Given the description of an element on the screen output the (x, y) to click on. 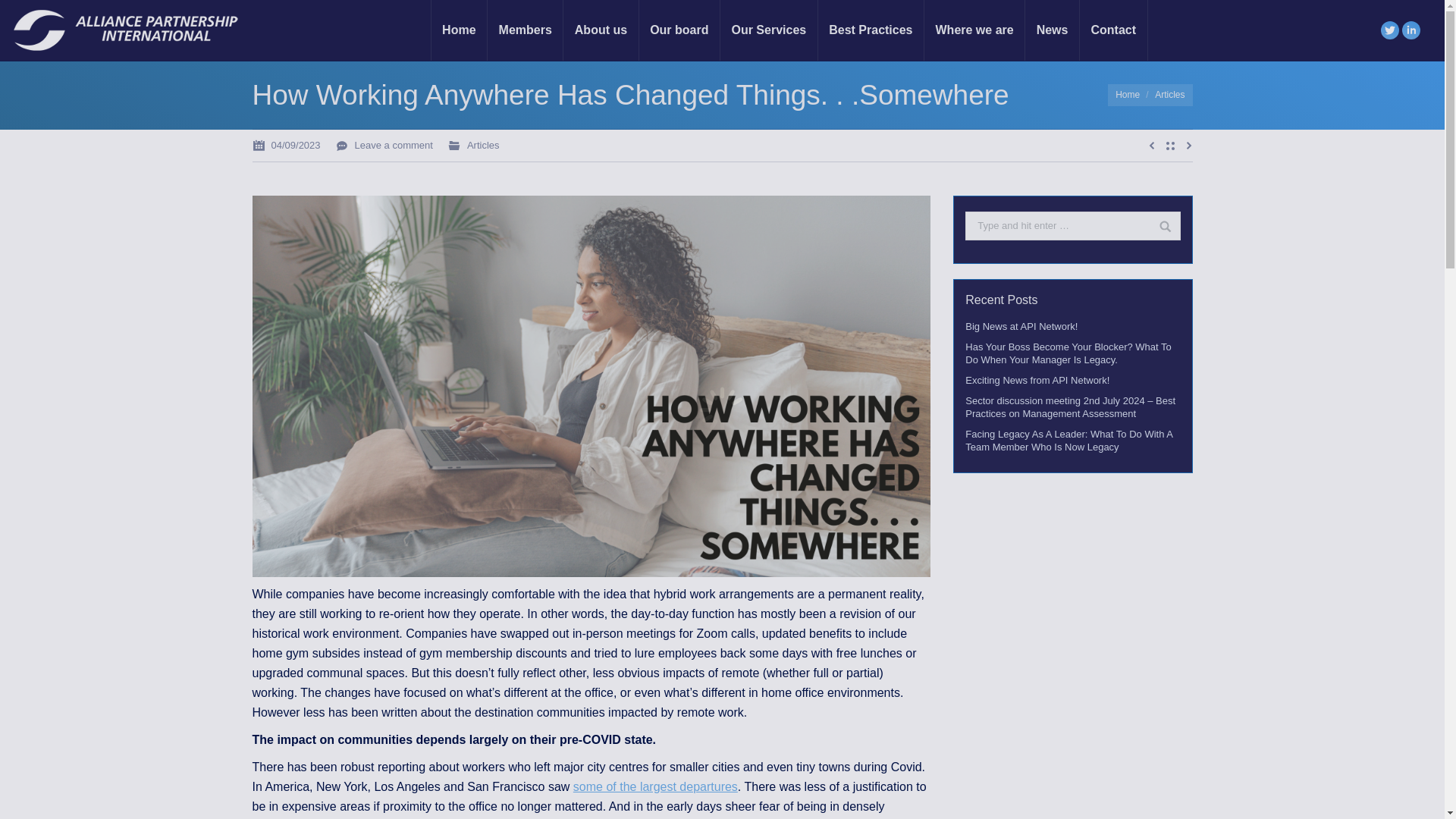
Home (1127, 94)
Leave a comment (384, 145)
Go! (1159, 226)
Members (525, 30)
Articles (1169, 94)
Where we are (974, 30)
News (1052, 30)
Articles (483, 144)
Go! (1159, 226)
Go! (17, 13)
